Given the description of an element on the screen output the (x, y) to click on. 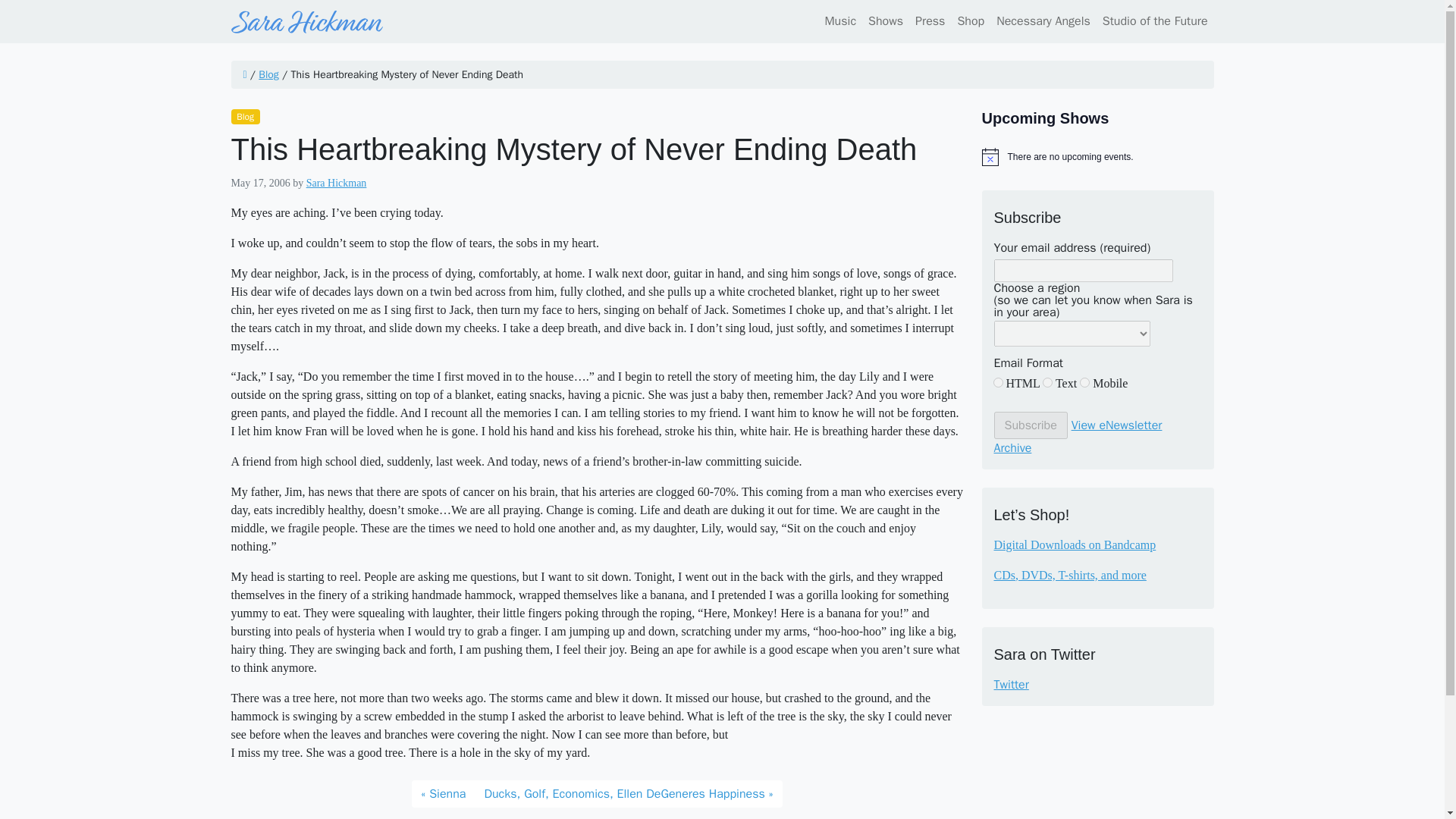
Press (929, 20)
Necessary Angels (1043, 20)
mobile (1084, 382)
Shows (884, 20)
Sienna (443, 793)
Digital Downloads on Bandcamp (1074, 544)
text (1047, 382)
Sara Hickman (335, 183)
Ducks, Golf, Economics, Ellen DeGeneres Happiness (628, 793)
Blog (244, 116)
Subscribe (1029, 424)
View eNewsletter Archive (1076, 436)
Studio of the Future (1152, 20)
Twitter (1096, 684)
Posts by Sara Hickman (335, 183)
